Given the description of an element on the screen output the (x, y) to click on. 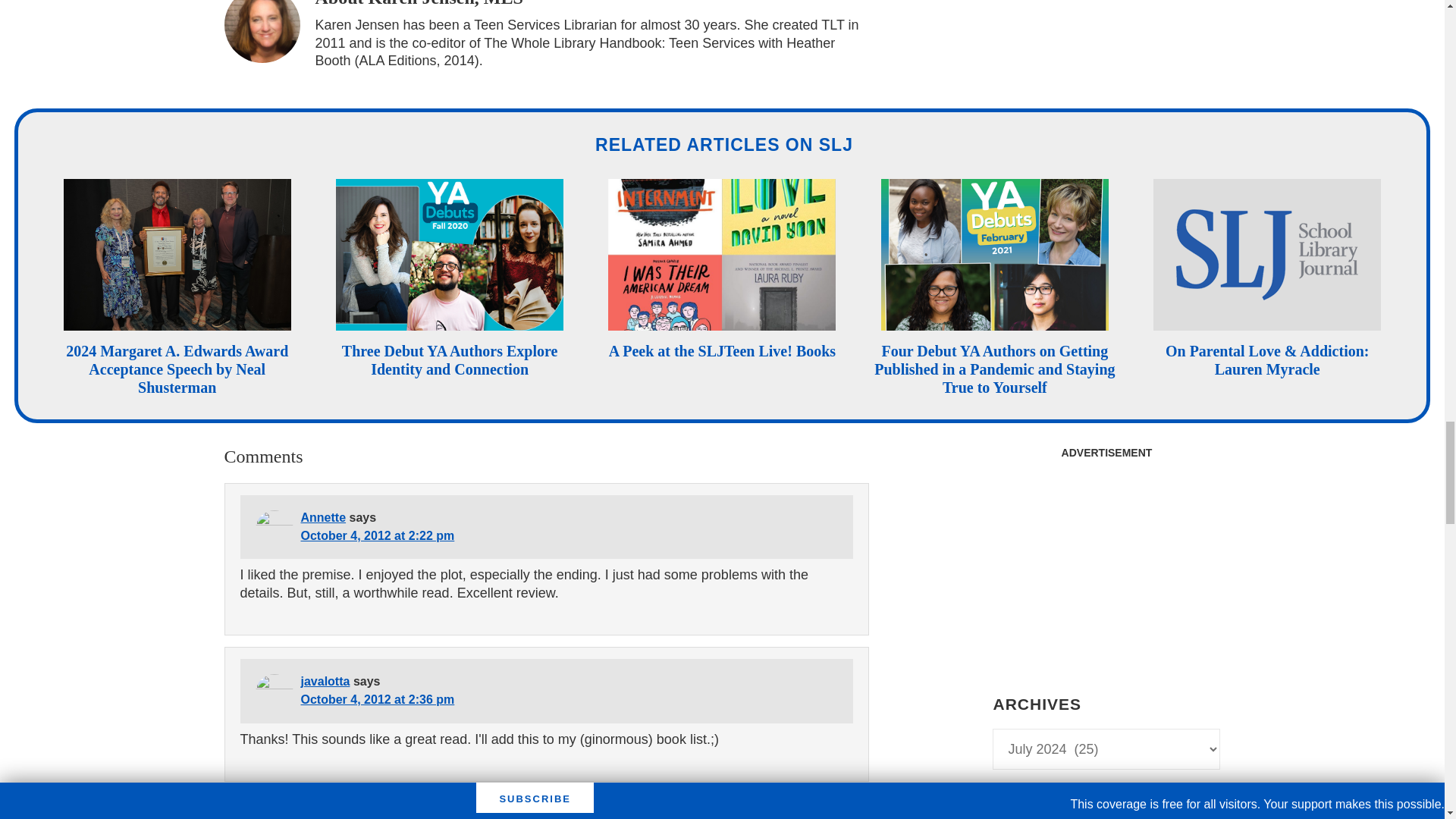
3rd party ad content (1106, 561)
